Given the description of an element on the screen output the (x, y) to click on. 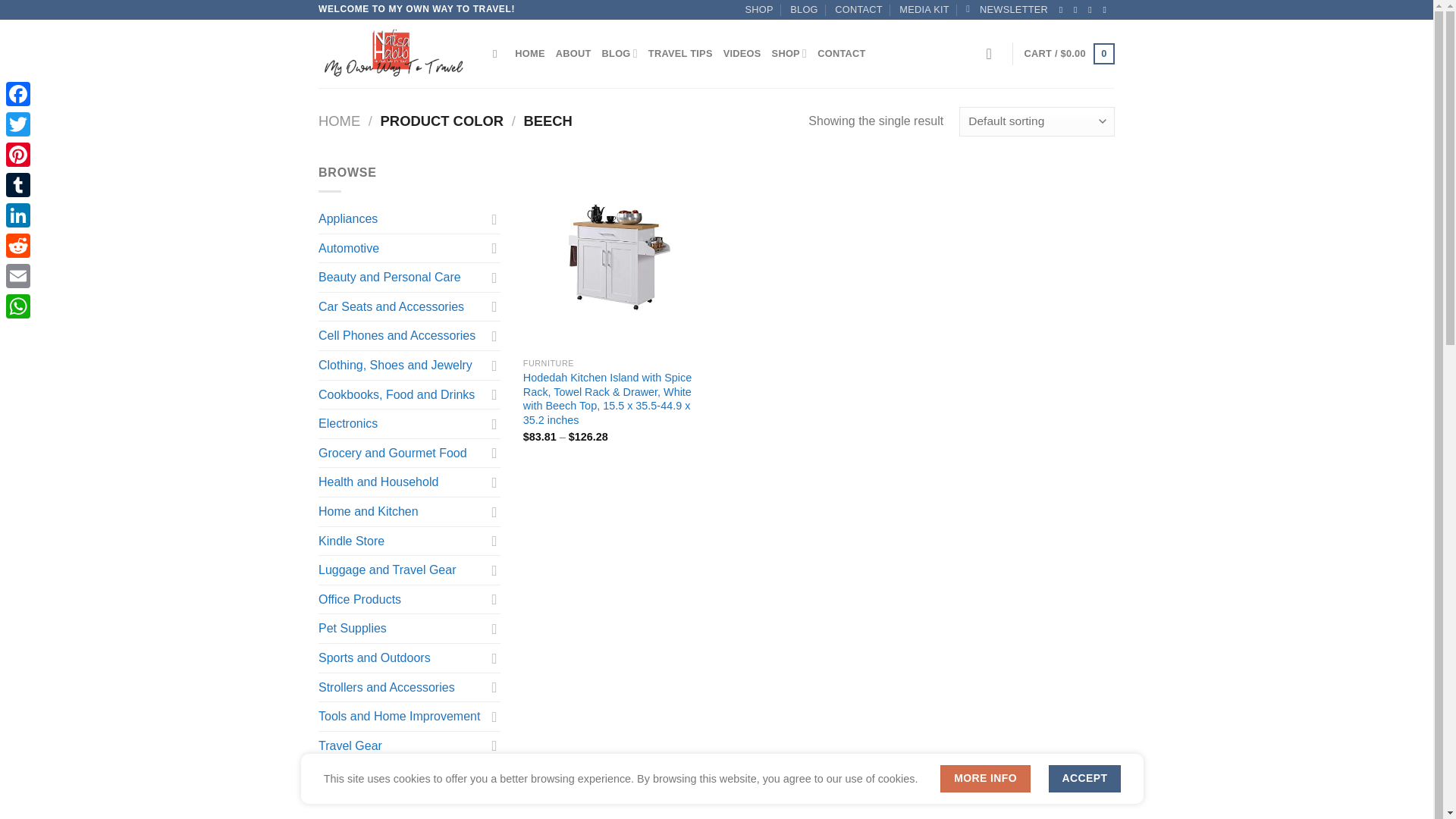
TRAVEL TIPS (680, 53)
MEDIA KIT (924, 9)
SHOP (759, 9)
NEWSLETTER (1007, 9)
Cart (1070, 53)
HOME (529, 53)
Sign up for Newsletter (1007, 9)
BLOG (804, 9)
ABOUT (573, 53)
VIDEOS (742, 53)
